Given the description of an element on the screen output the (x, y) to click on. 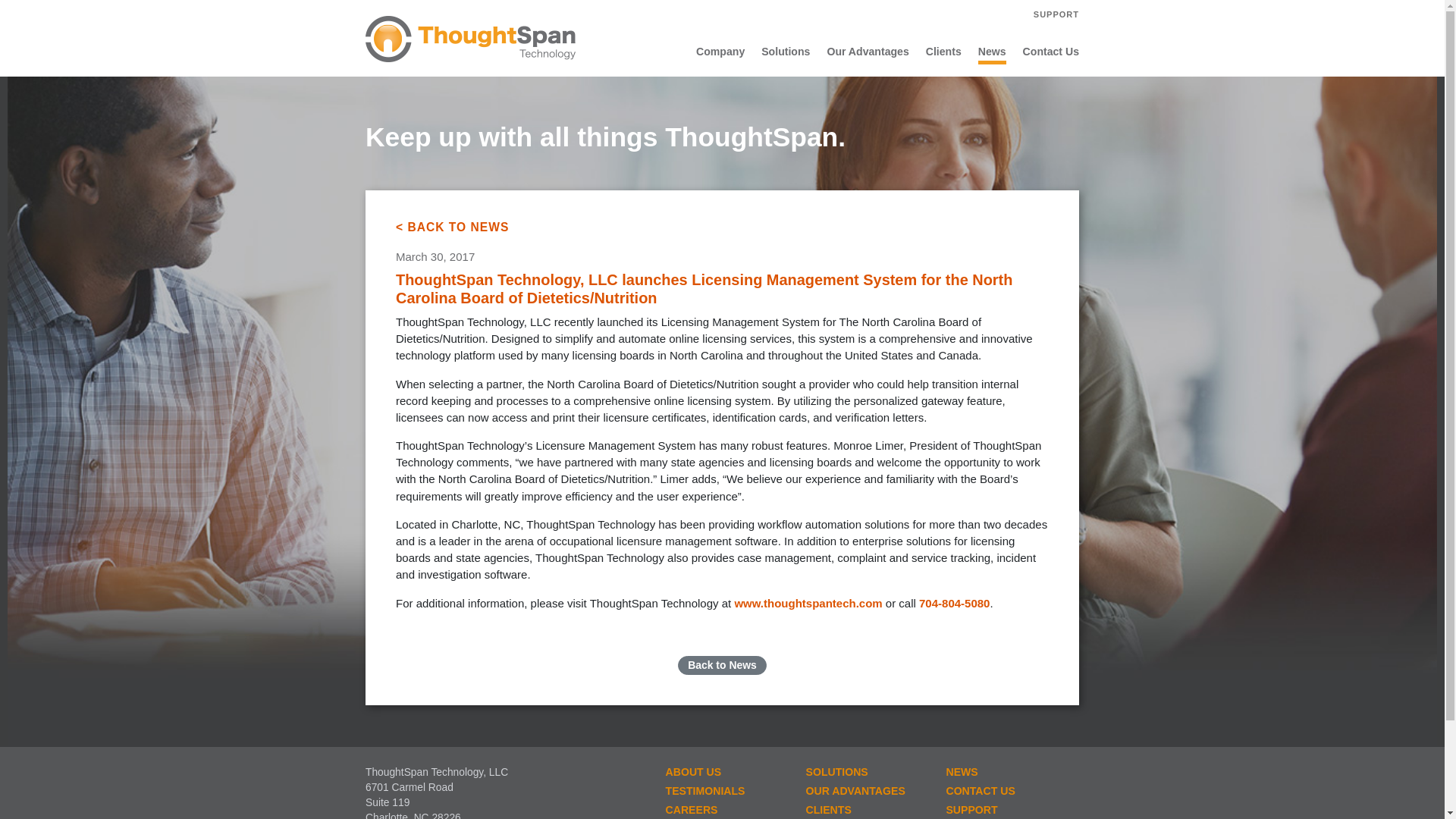
CAREERS (723, 809)
CONTACT US (1004, 791)
OUR ADVANTAGES (864, 791)
SOLUTIONS (864, 772)
Back to News (722, 665)
CLIENTS (864, 809)
TESTIMONIALS (723, 791)
Company (719, 53)
SUPPORT (1052, 14)
704-804-5080 (954, 603)
